Given the description of an element on the screen output the (x, y) to click on. 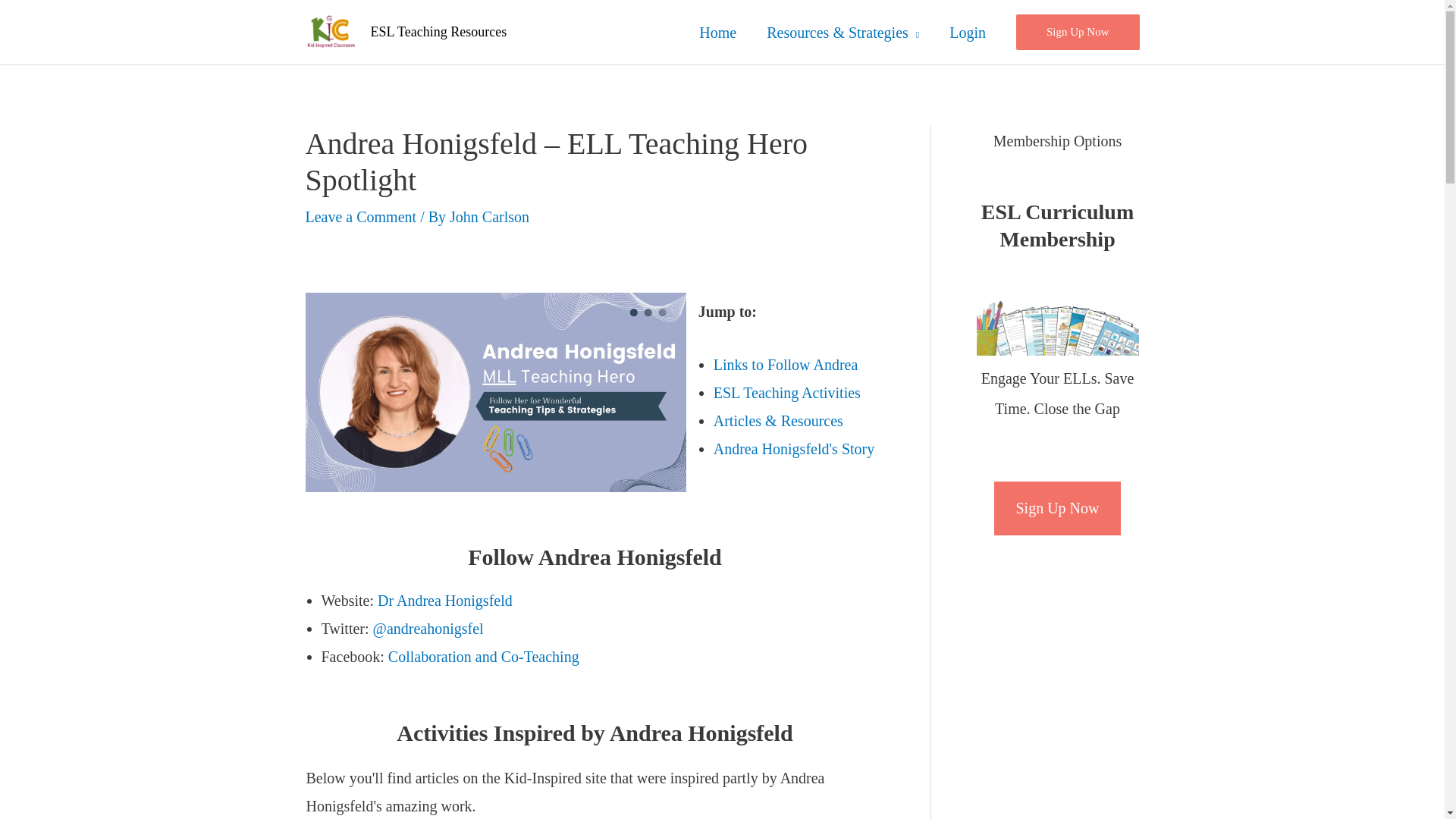
Home (717, 31)
Andrea Honigsfeld's Story (794, 448)
Links to Follow Andrea (786, 364)
ESL Teaching Activities (786, 392)
Login (967, 31)
ESL Teaching Hero Andrea Honigsfeld (494, 392)
Sign Up Now (1078, 32)
View all posts by John Carlson (489, 216)
